Given the description of an element on the screen output the (x, y) to click on. 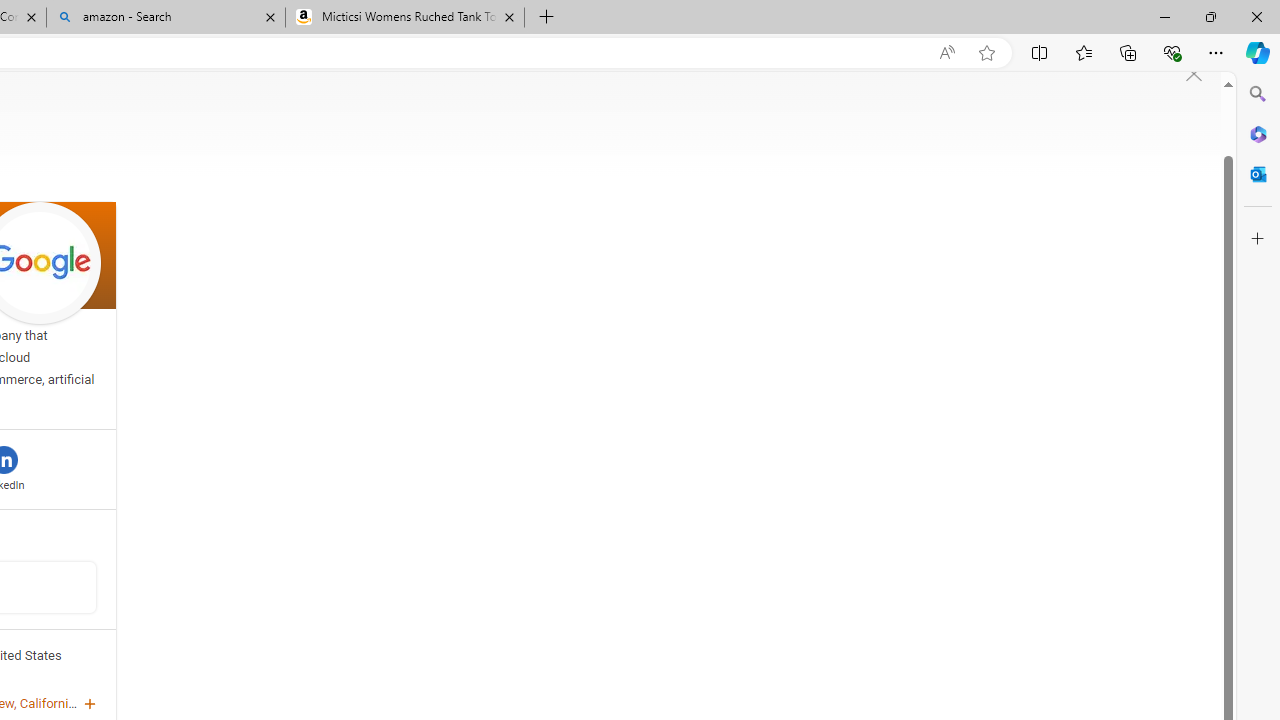
Restore (1210, 16)
Collections (1128, 52)
Read aloud this page (Ctrl+Shift+U) (946, 53)
Settings and more (Alt+F) (1215, 52)
Favorites (1083, 52)
Split screen (1039, 52)
Search (1258, 94)
Browser essentials (1171, 52)
Customize (1258, 239)
Close (1256, 16)
New Tab (546, 17)
Close tab (509, 16)
Copilot (Ctrl+Shift+.) (1258, 52)
Add this page to favorites (Ctrl+D) (986, 53)
Class: rms_img (1193, 74)
